Given the description of an element on the screen output the (x, y) to click on. 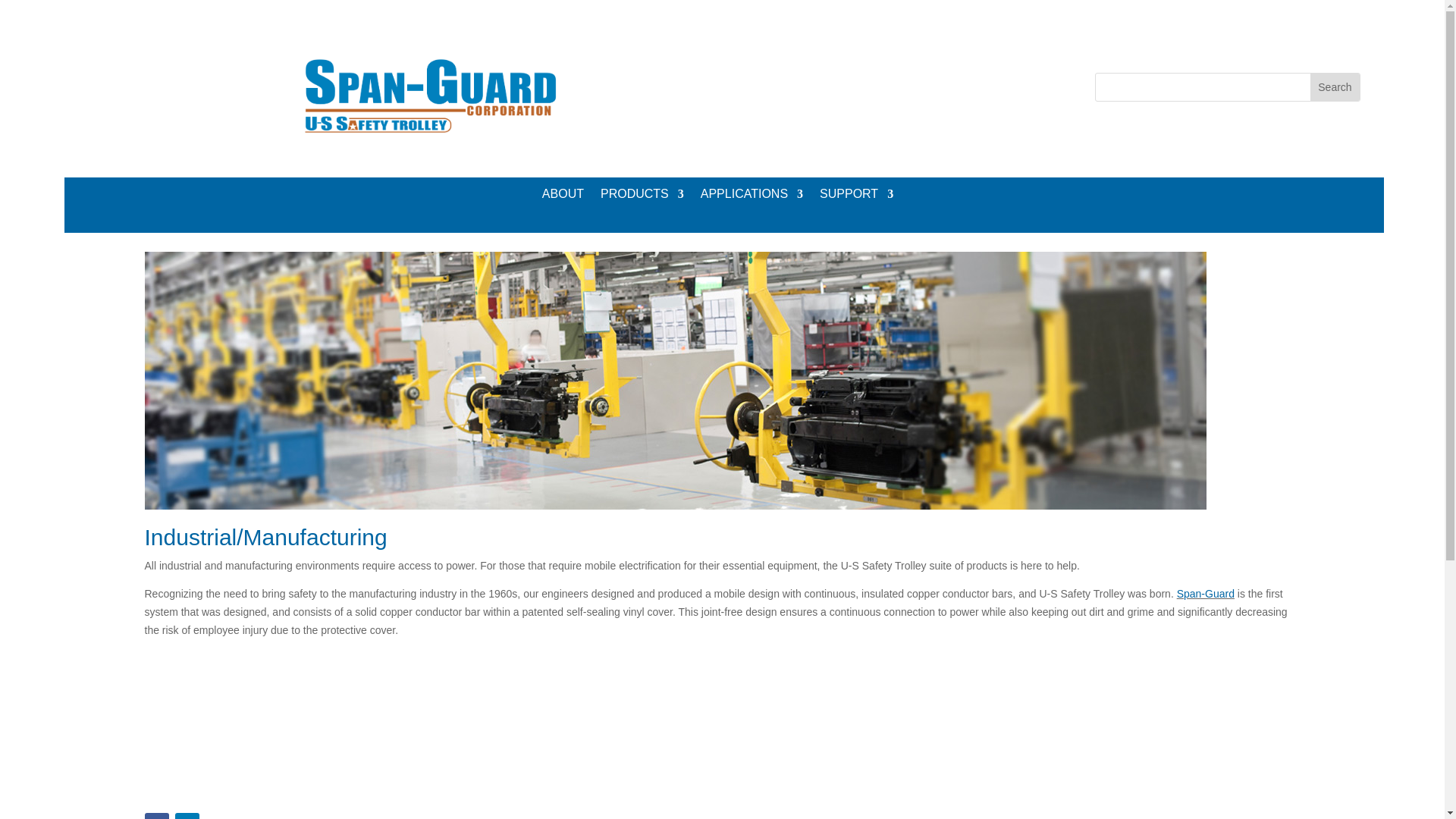
Search (1334, 86)
Search (1334, 86)
APPLICATIONS (751, 196)
Span-Guard (1205, 593)
span-guard-logo (430, 98)
SUPPORT (856, 196)
PRODUCTS (641, 196)
Follow on LinkedIn (186, 816)
Search (1334, 86)
Follow on Facebook (156, 816)
ABOUT (562, 196)
